Given the description of an element on the screen output the (x, y) to click on. 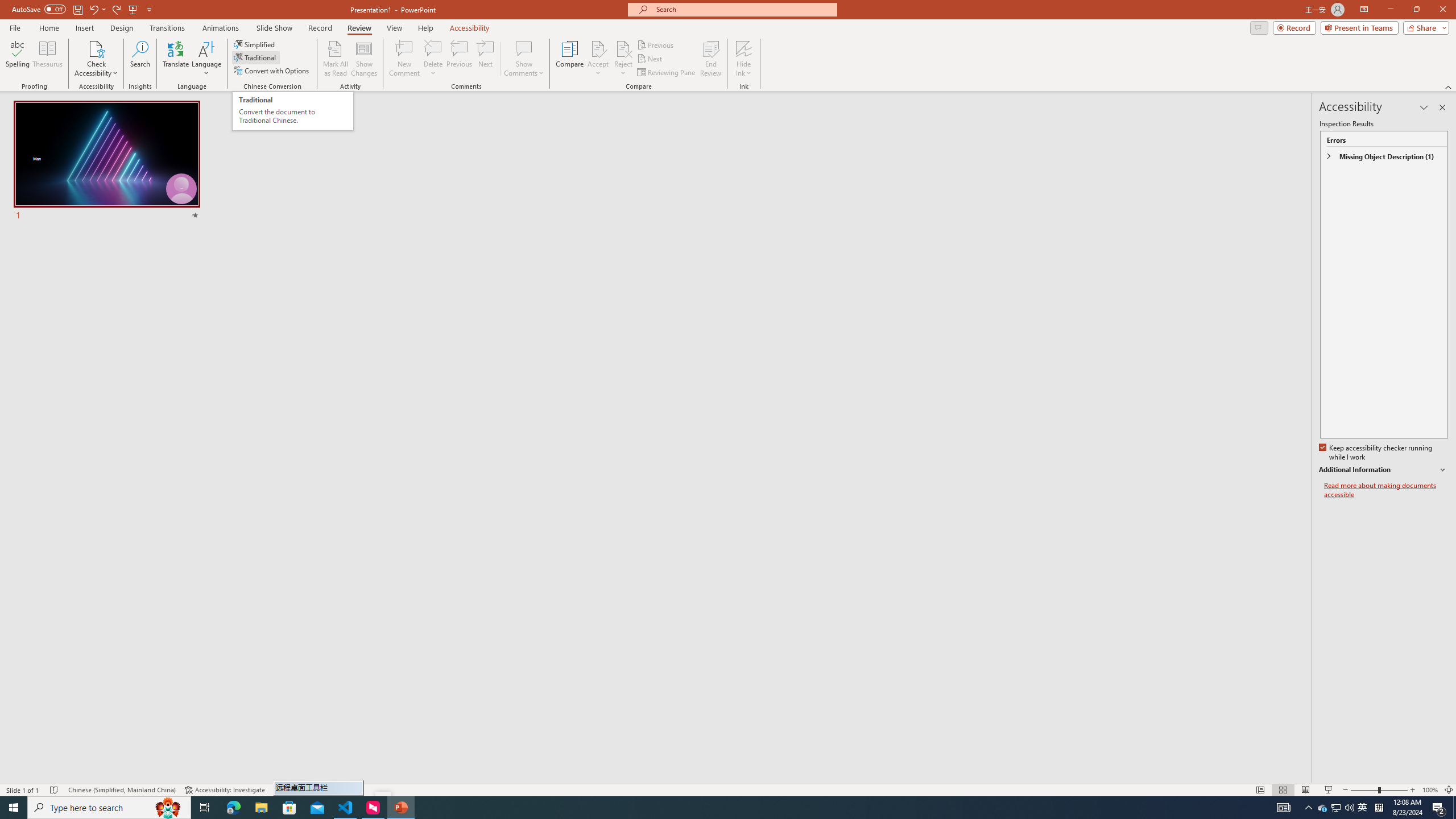
Show Changes (363, 58)
Accept Change (598, 48)
Language (206, 58)
Spelling... (17, 58)
Additional Information (1383, 469)
New Comment (403, 58)
Compare (569, 58)
